Given the description of an element on the screen output the (x, y) to click on. 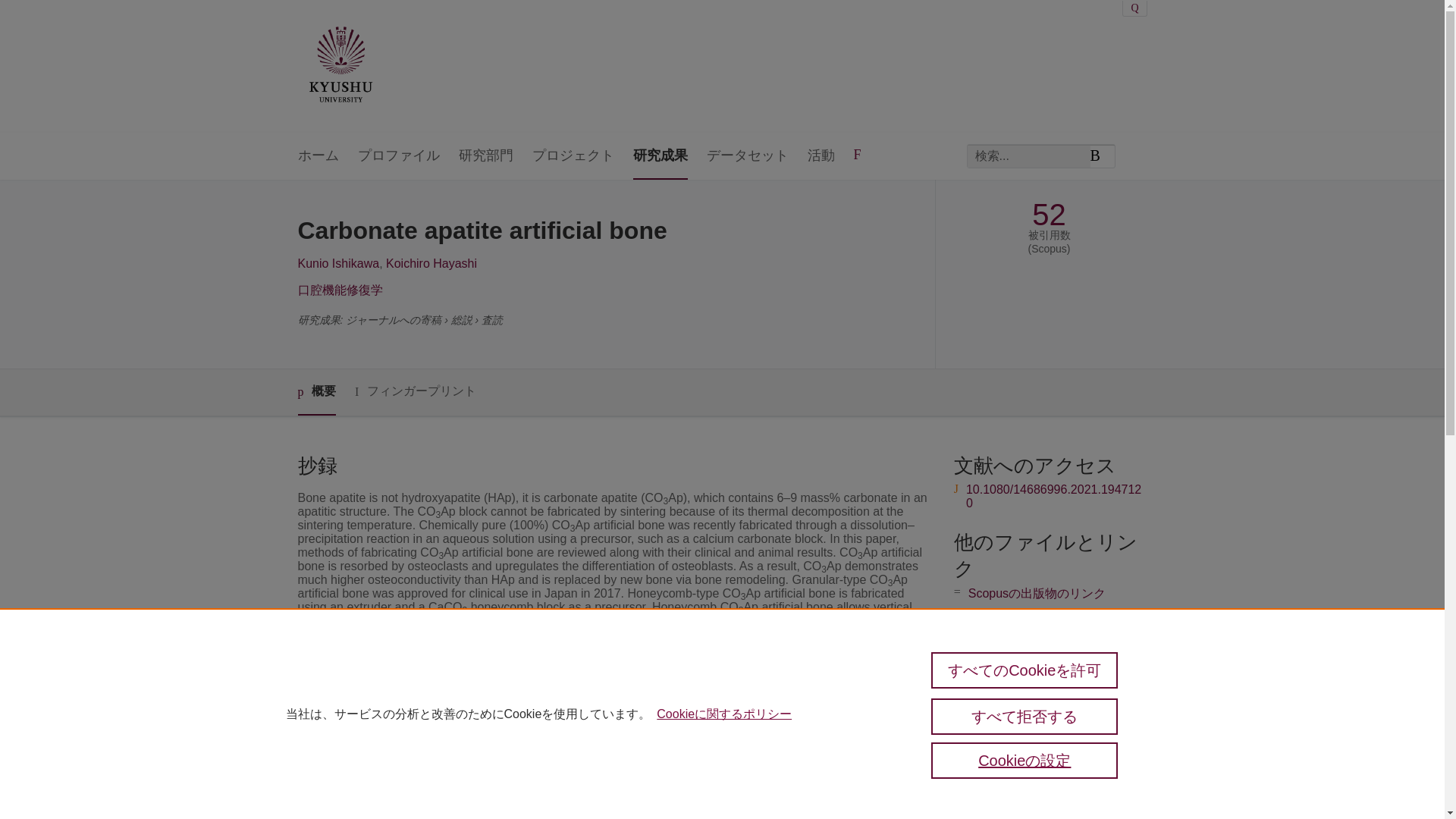
Koichiro Hayashi (431, 263)
52 (1048, 214)
Science and Technology of Advanced Materials (632, 729)
Kunio Ishikawa (337, 263)
